Given the description of an element on the screen output the (x, y) to click on. 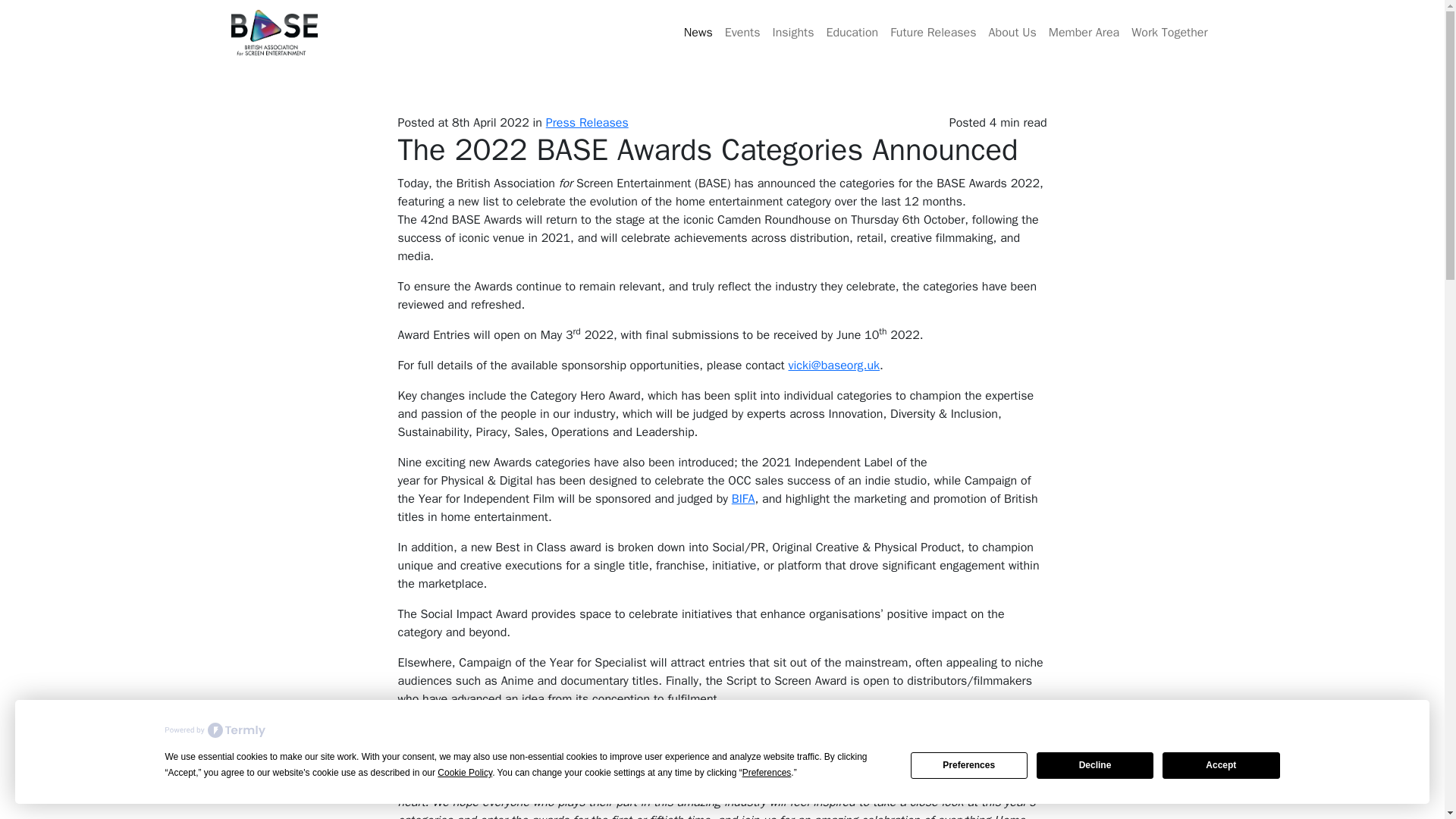
Press Releases (587, 122)
News (698, 32)
Education (851, 32)
BIFA (743, 498)
Future Releases (932, 32)
Accept (1220, 765)
Member Area (1083, 32)
Decline (1094, 765)
Events (743, 32)
Preferences (969, 765)
About Us (1012, 32)
Work Together (1168, 32)
Insights (792, 32)
